Given the description of an element on the screen output the (x, y) to click on. 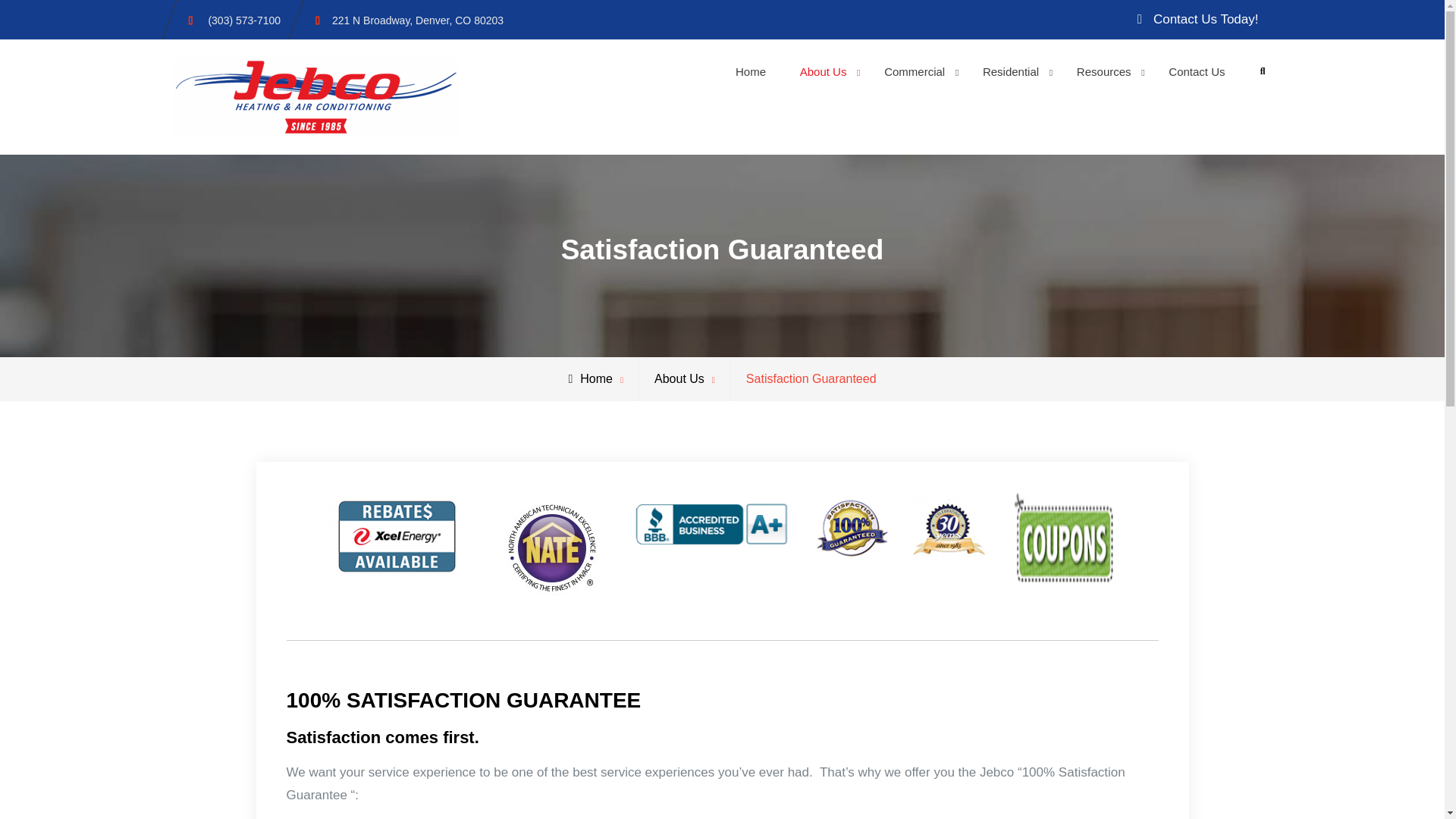
Home (750, 71)
About Us (825, 71)
Residential (1013, 71)
Contact Us (1196, 71)
Home (589, 378)
Contact Us Today! (1197, 19)
Jebcohvac.com (531, 81)
Search (1262, 71)
Commercial (916, 71)
Resources (1105, 71)
